Given the description of an element on the screen output the (x, y) to click on. 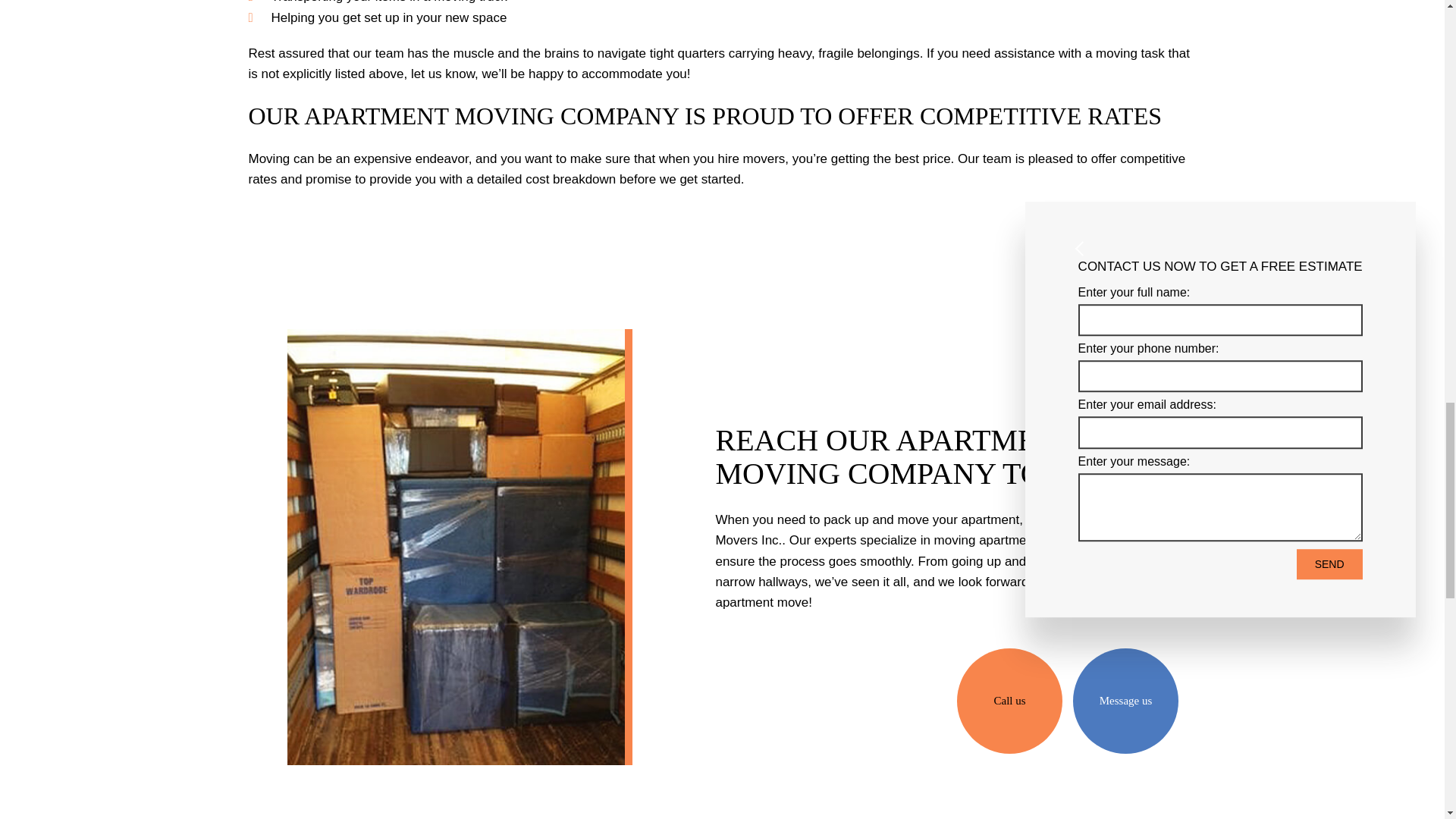
Message Us (1125, 700)
